Given the description of an element on the screen output the (x, y) to click on. 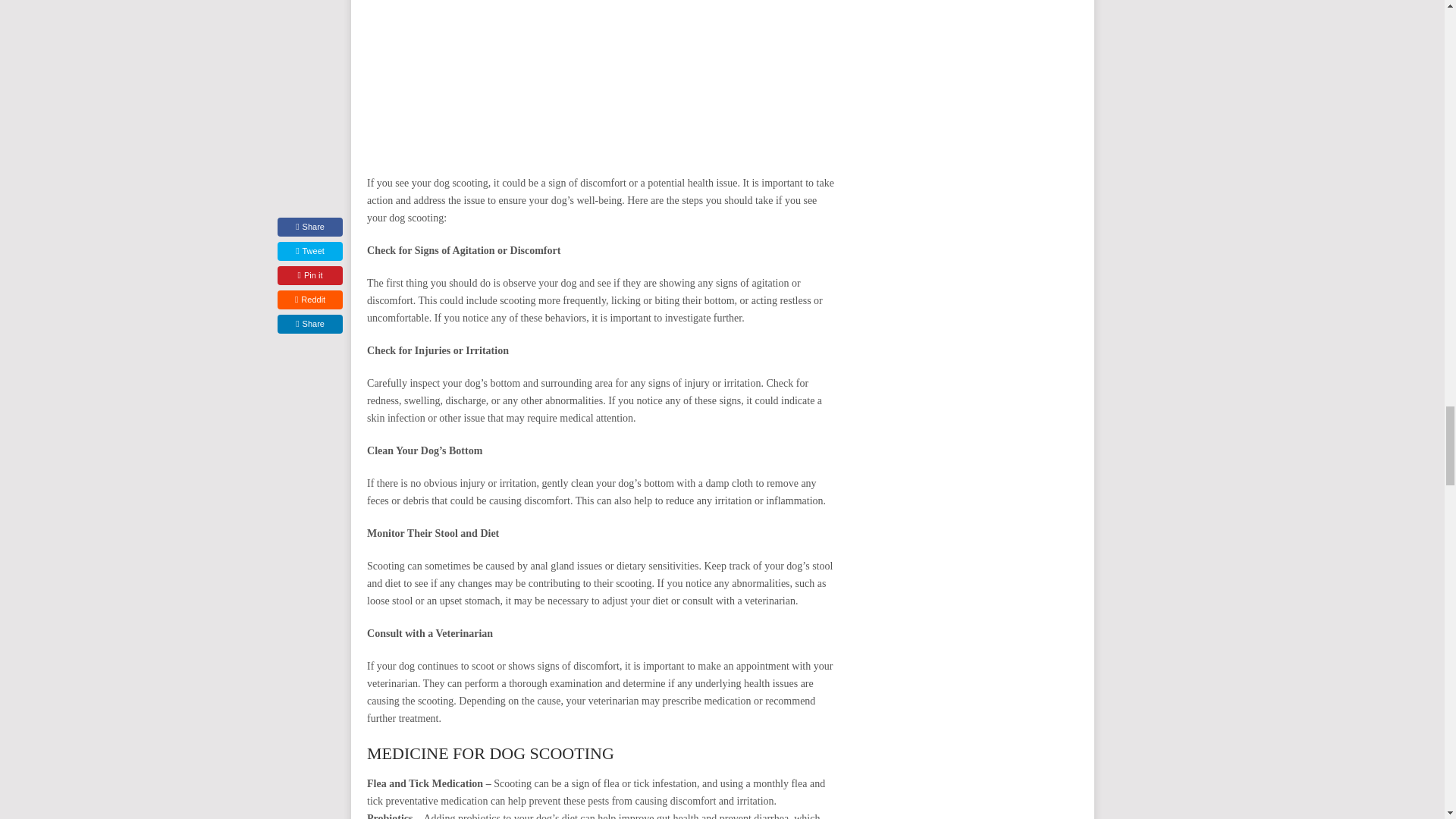
12 Effective Home Remedies For Dogs Scooting 3 (601, 78)
